Given the description of an element on the screen output the (x, y) to click on. 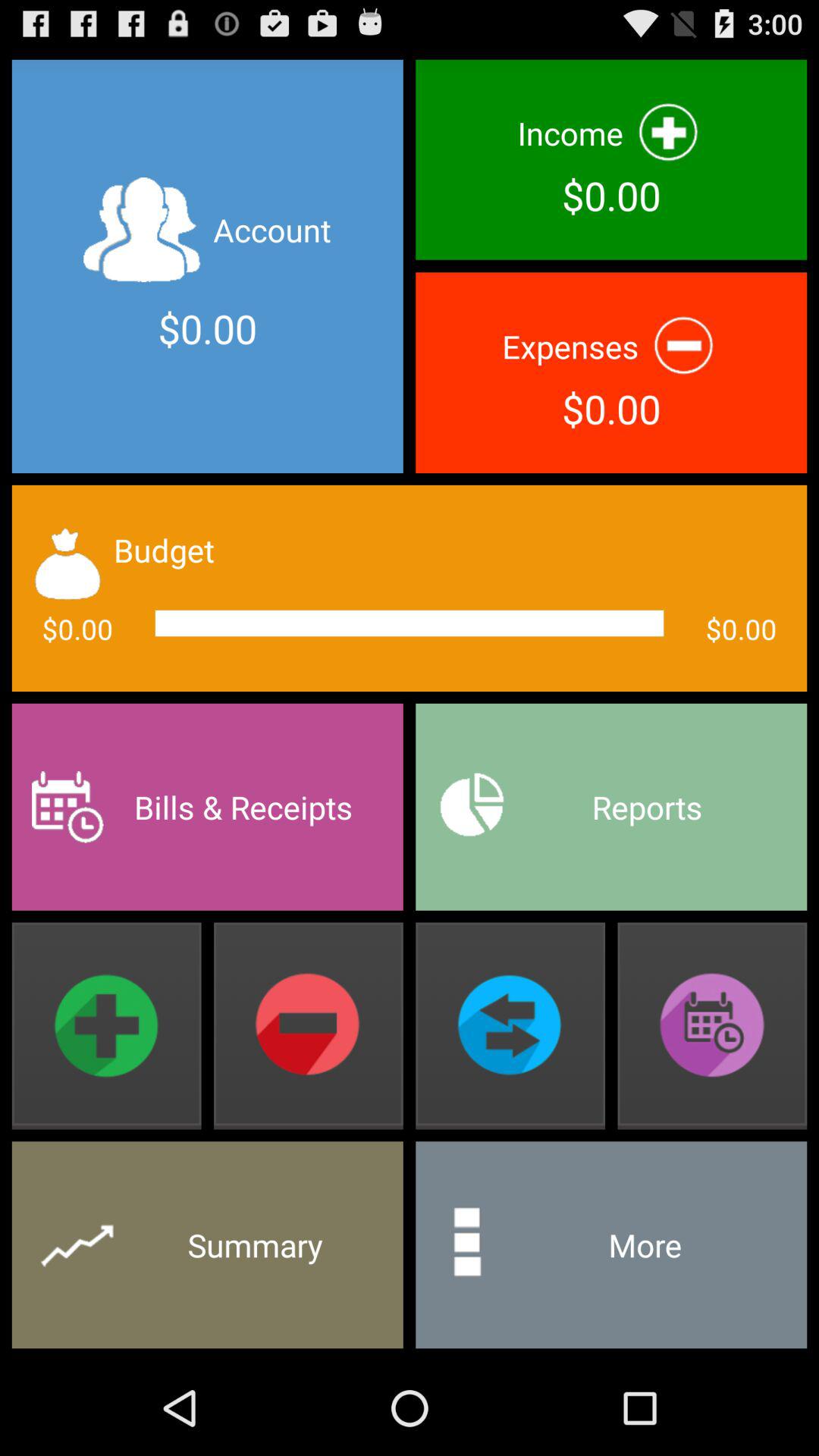
turn on icon to the right of bills & receipts app (611, 806)
